Given the description of an element on the screen output the (x, y) to click on. 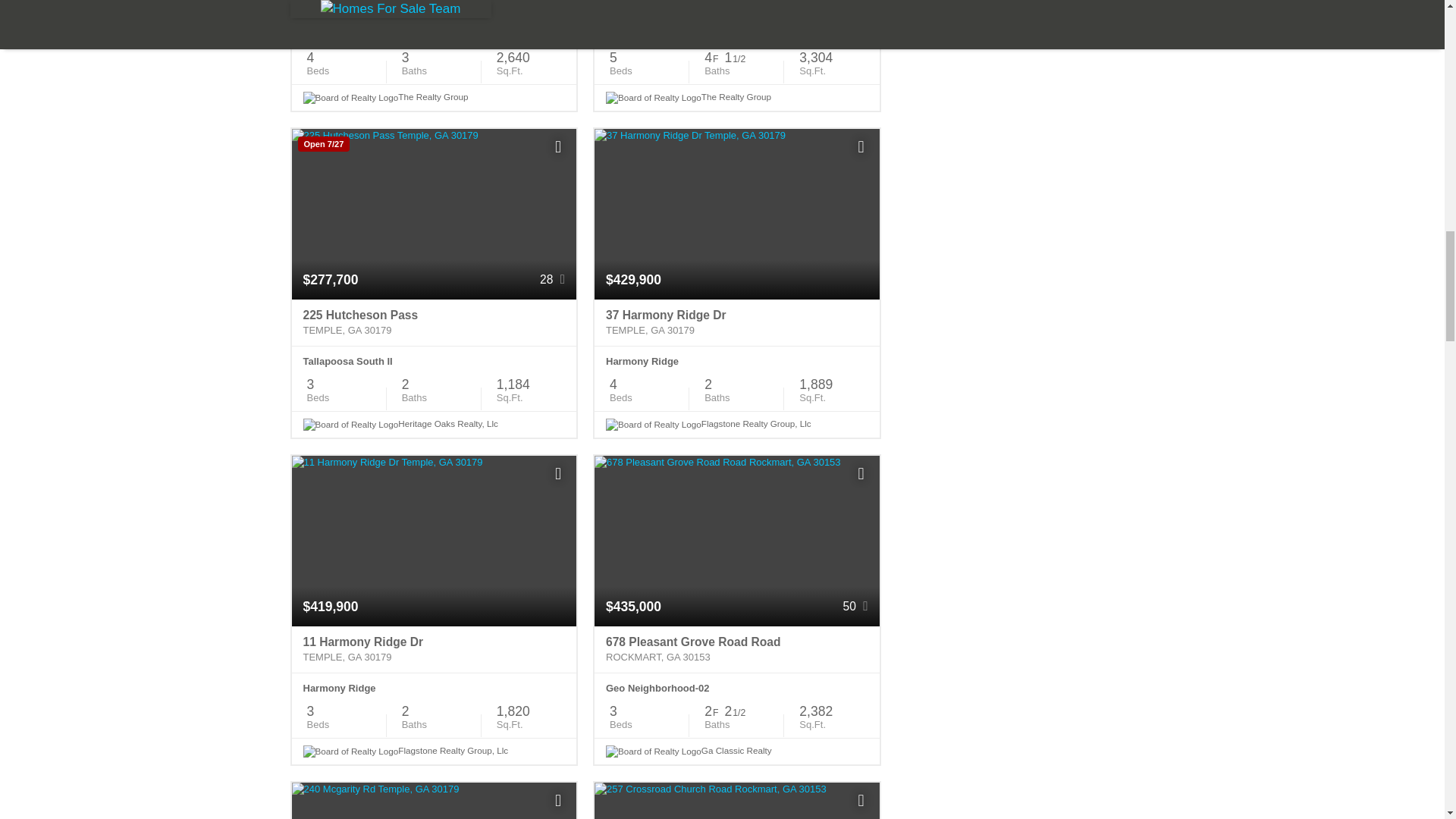
225 Hutcheson Pass Temple,  GA 30179 (433, 322)
350 Taylor Path Dallas,  GA 30157 (736, 9)
340 Taylor Path Dallas,  GA 30157 (433, 9)
